Given the description of an element on the screen output the (x, y) to click on. 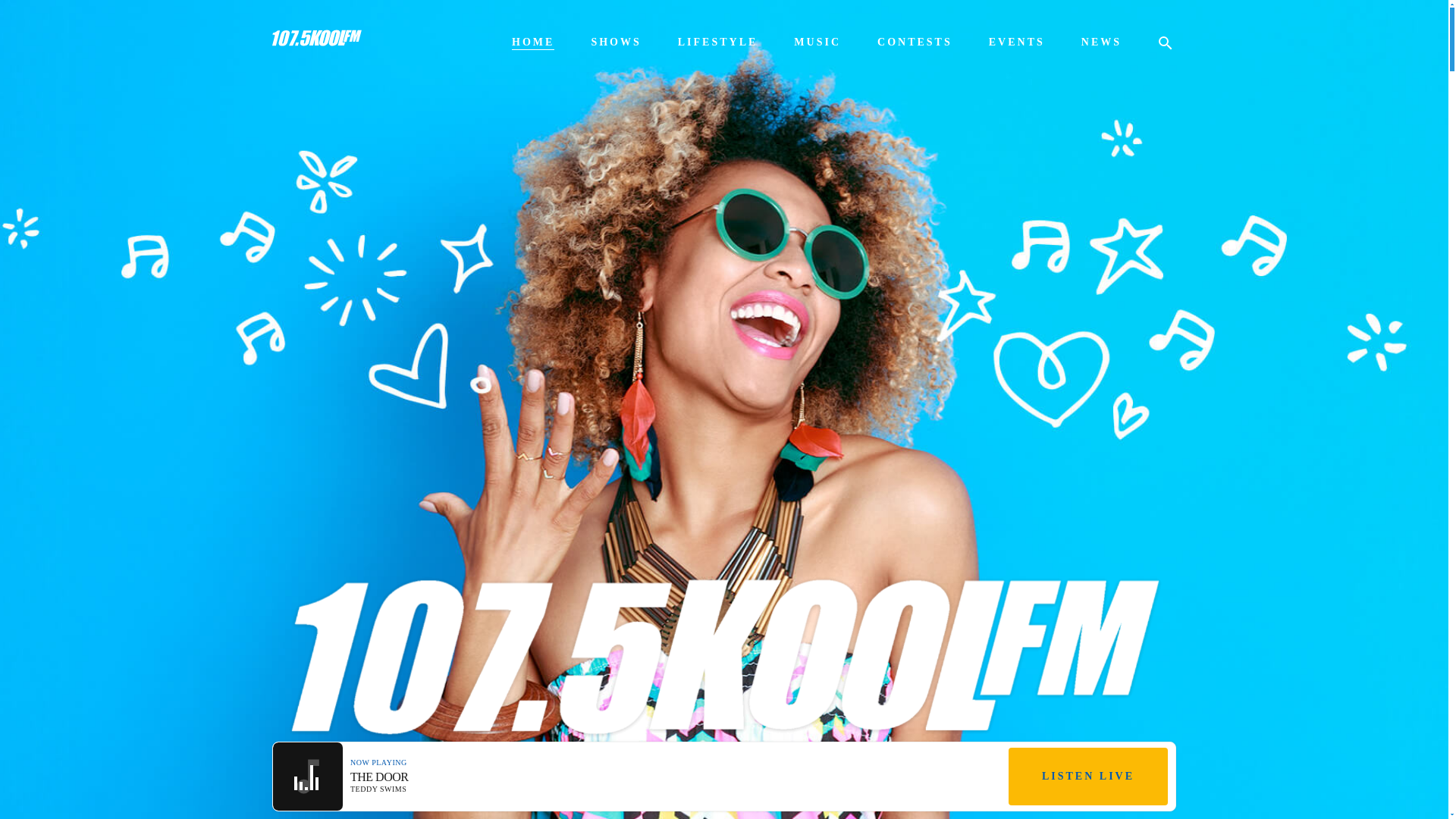
LIFESTYLE (718, 42)
CONTESTS (914, 42)
EVENTS (1016, 42)
HOME (533, 42)
LISTEN LIVE (1088, 776)
NEWS (1101, 42)
MUSIC (817, 42)
SHOWS (615, 42)
Search (29, 11)
